Given the description of an element on the screen output the (x, y) to click on. 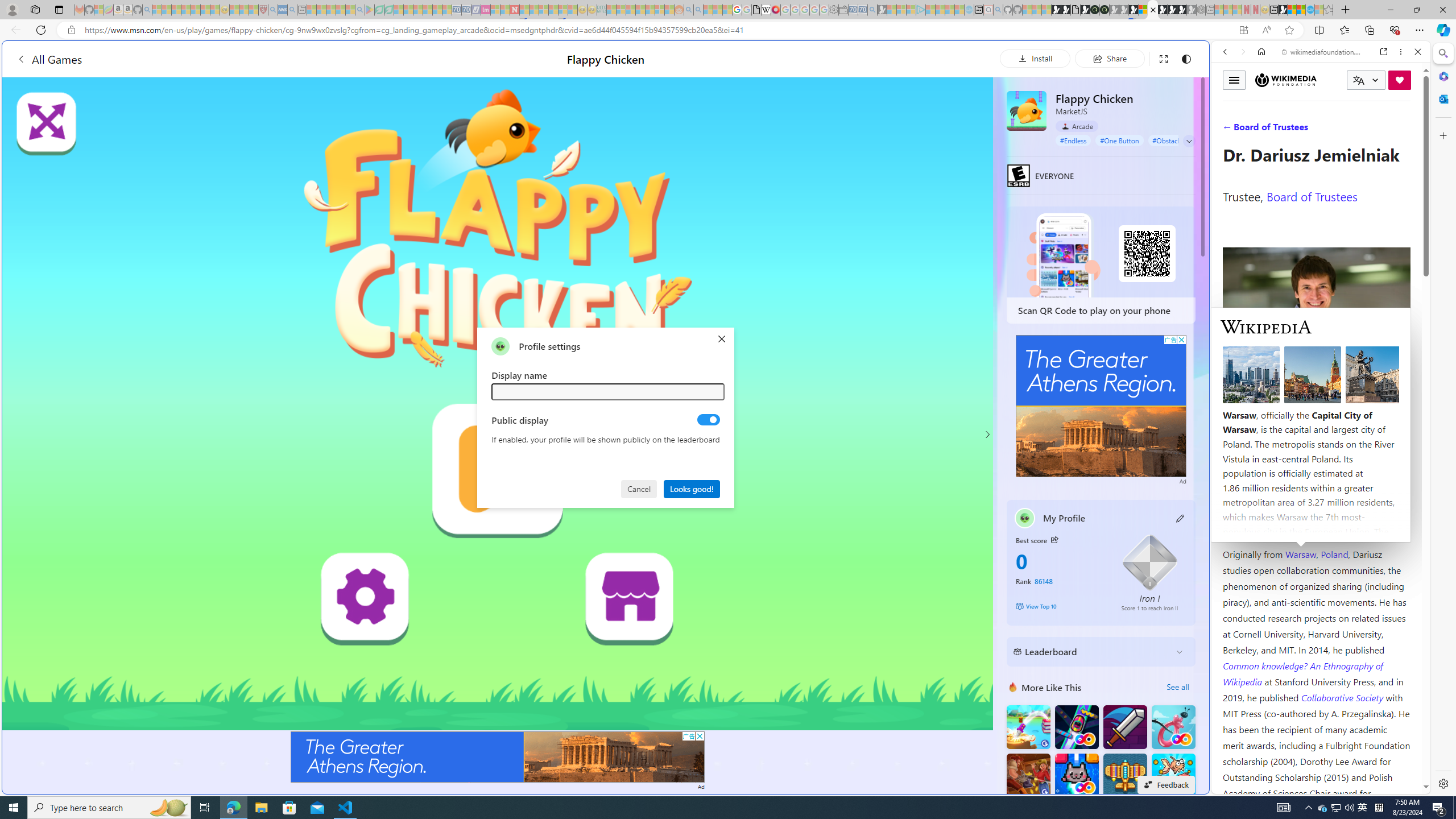
More Like This (1012, 686)
Advertisement (1101, 405)
Profile on Meta-Wiki (1273, 405)
Bing Real Estate - Home sales and rental listings - Sleeping (872, 9)
Search Filter, VIDEOS (1300, 129)
Search Filter, IMAGES (1262, 129)
